Given the description of an element on the screen output the (x, y) to click on. 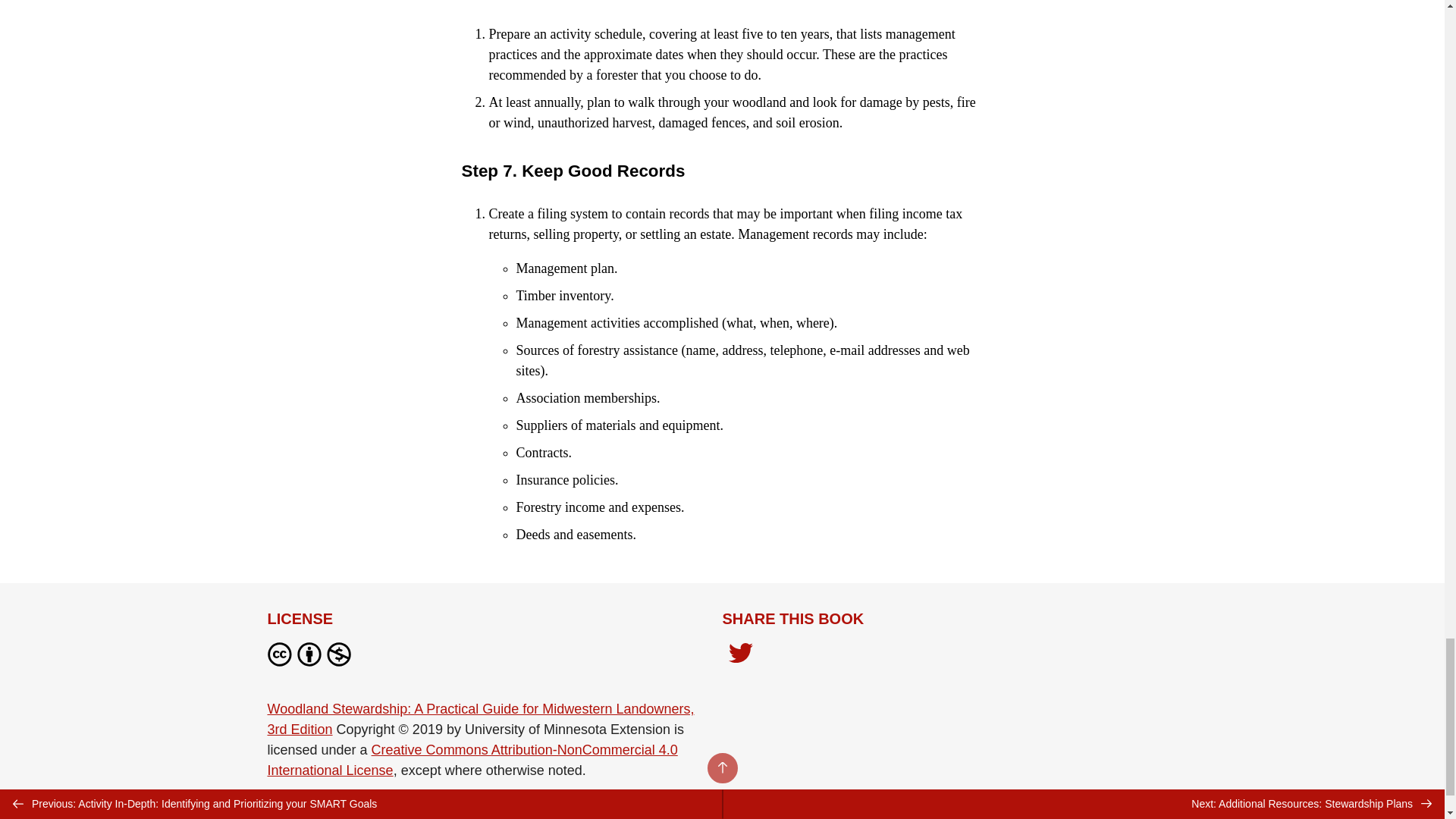
Share on Twitter (740, 654)
Share on Twitter (740, 656)
